Given the description of an element on the screen output the (x, y) to click on. 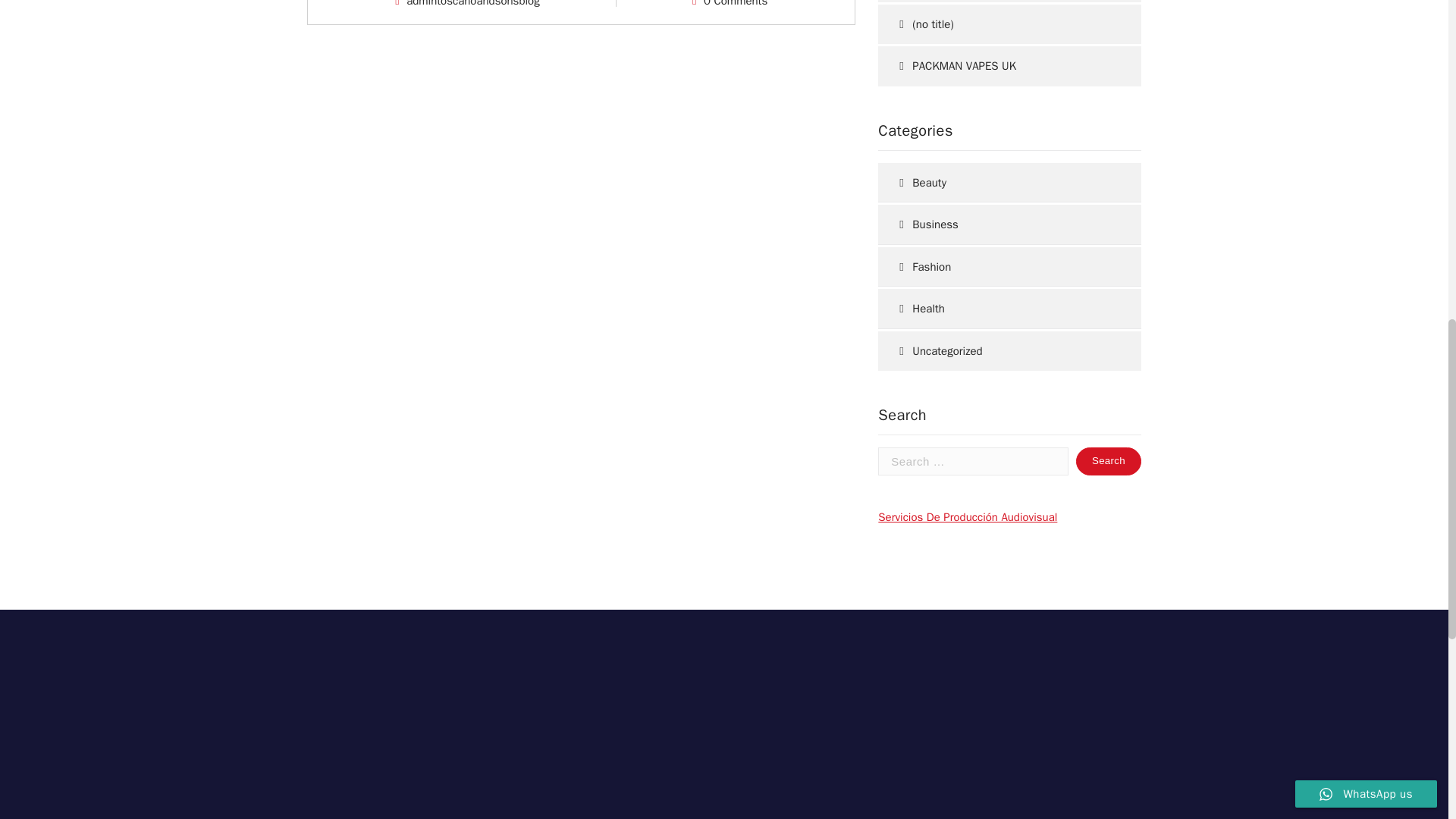
admintoscanoandsonsblog (473, 3)
Search (1108, 461)
Search (1108, 461)
0 Comments (735, 3)
